Given the description of an element on the screen output the (x, y) to click on. 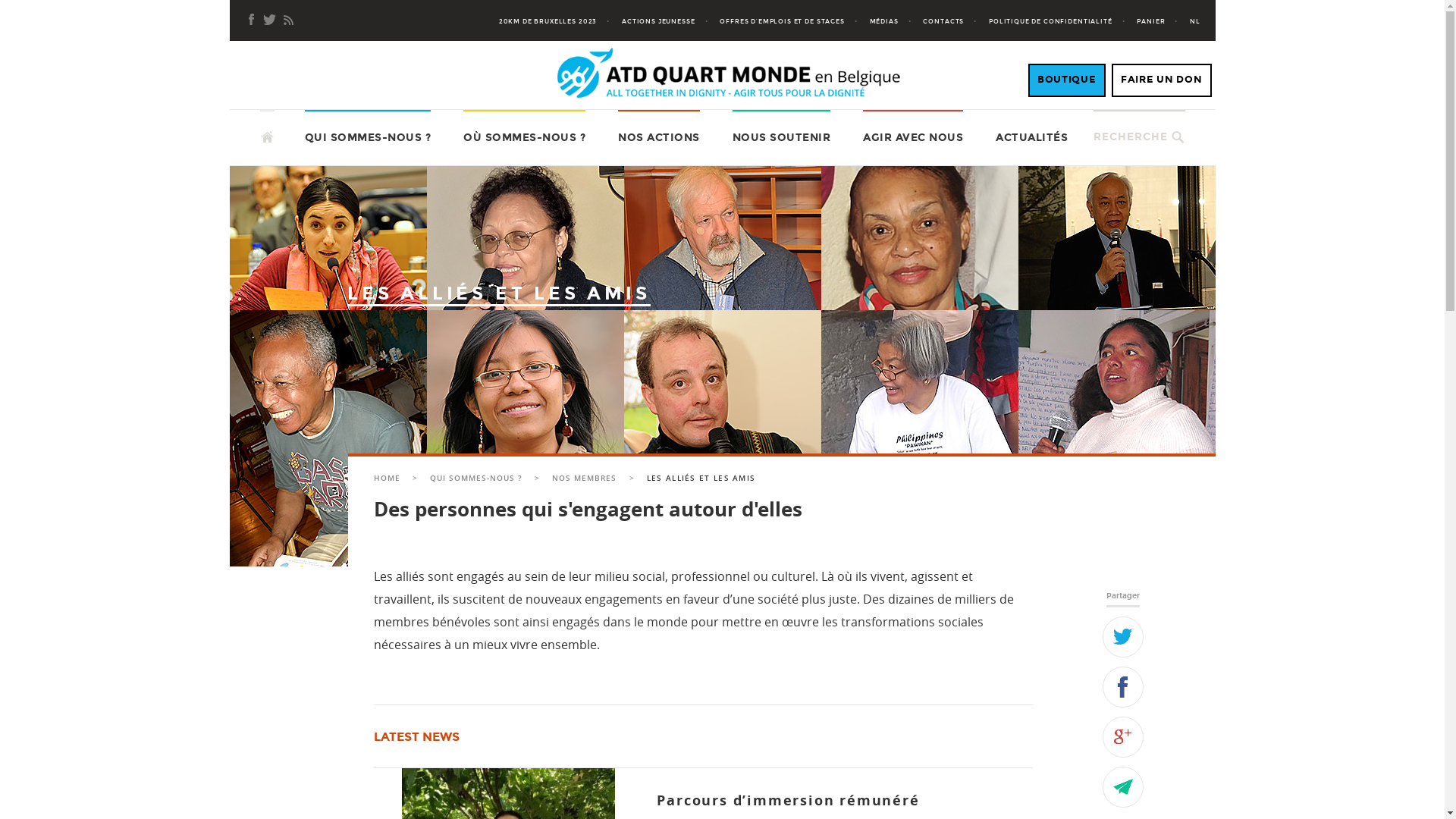
  Element type: text (266, 129)
QUI SOMMES-NOUS ? Element type: text (475, 478)
Twitter Element type: hover (1122, 635)
NOS ACTIONS Element type: text (658, 137)
NOUS SOUTENIR Element type: text (781, 137)
QUI SOMMES-NOUS ? Element type: text (367, 137)
Facebook Element type: hover (251, 20)
Facebook Element type: hover (1122, 685)
ATD QUART MONDE Element type: text (329, 130)
HOME Element type: text (386, 478)
NOS MEMBRES Element type: text (584, 478)
ACTIONS JEUNESSE Element type: text (669, 20)
20KM DE BRUXELLES 2023 Element type: text (558, 20)
RECHERCHE Element type: text (1130, 136)
ALLER AU CONTENU PRINCIPAL Element type: text (259, 109)
Envoyer par mail Element type: hover (1122, 785)
NL Element type: text (1194, 20)
Newsletter Element type: hover (269, 20)
CONTACTS Element type: text (954, 20)
RSS Element type: hover (287, 20)
AGIR AVEC NOUS Element type: text (912, 137)
Google + Element type: hover (1122, 735)
PANIER Element type: text (1161, 20)
